Given the description of an element on the screen output the (x, y) to click on. 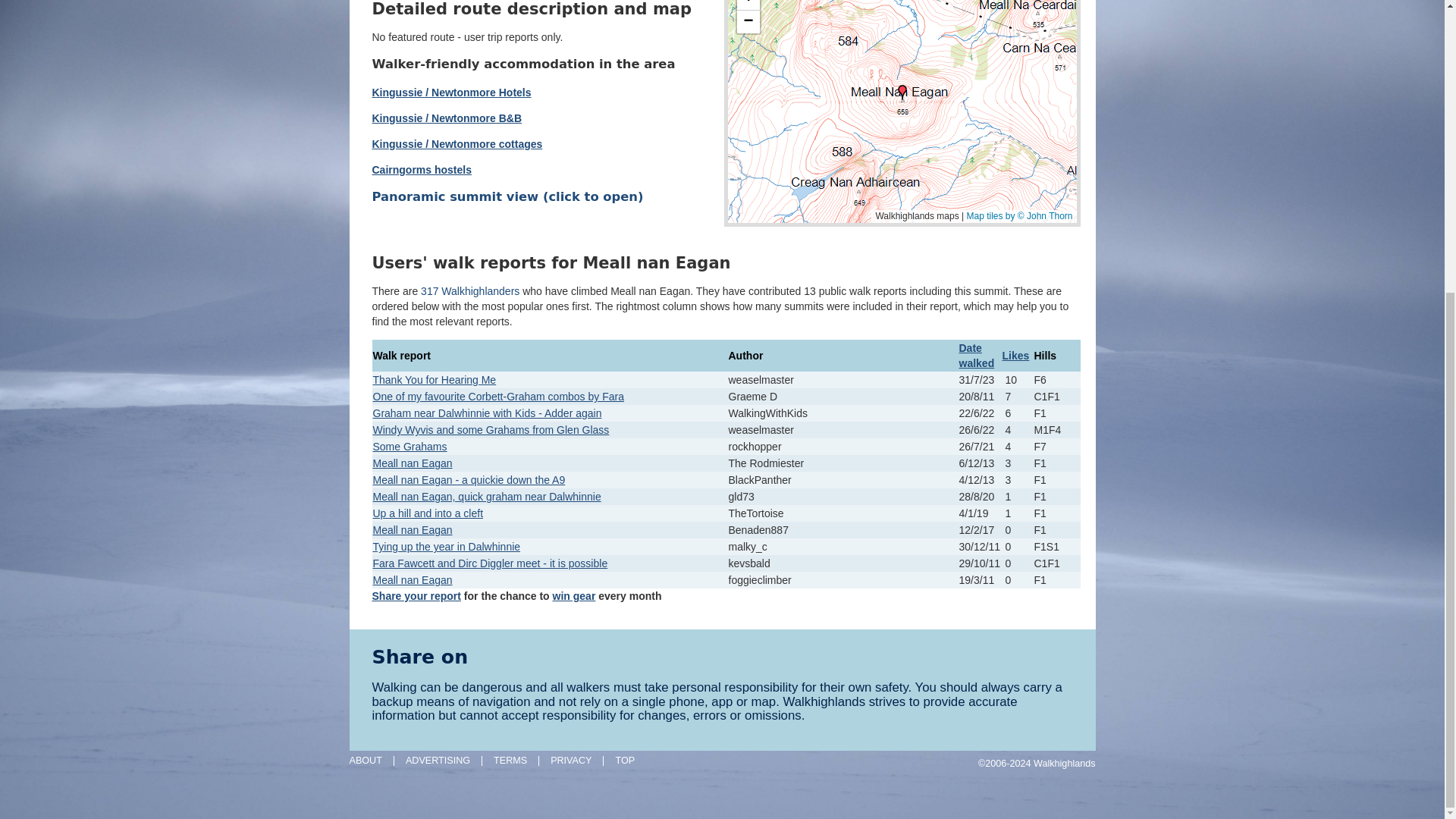
Zoom in (748, 5)
Zoom out (748, 21)
